Given the description of an element on the screen output the (x, y) to click on. 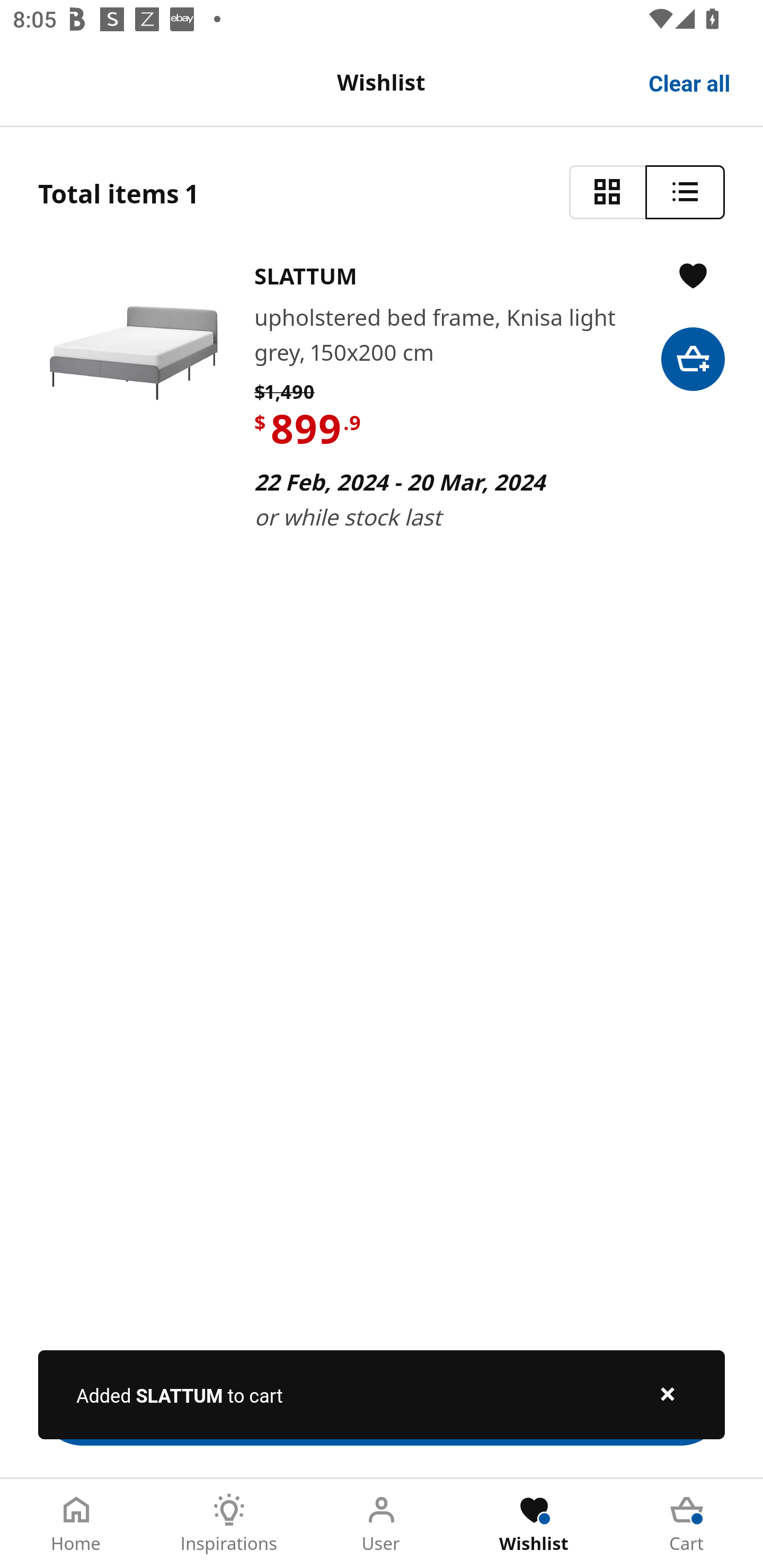
Clear all (689, 81)
Added SLATTUM to cart (381, 1394)
Home
Tab 1 of 5 (76, 1522)
Inspirations
Tab 2 of 5 (228, 1522)
User
Tab 3 of 5 (381, 1522)
Wishlist
Tab 4 of 5 (533, 1522)
Cart
Tab 5 of 5 (686, 1522)
